Given the description of an element on the screen output the (x, y) to click on. 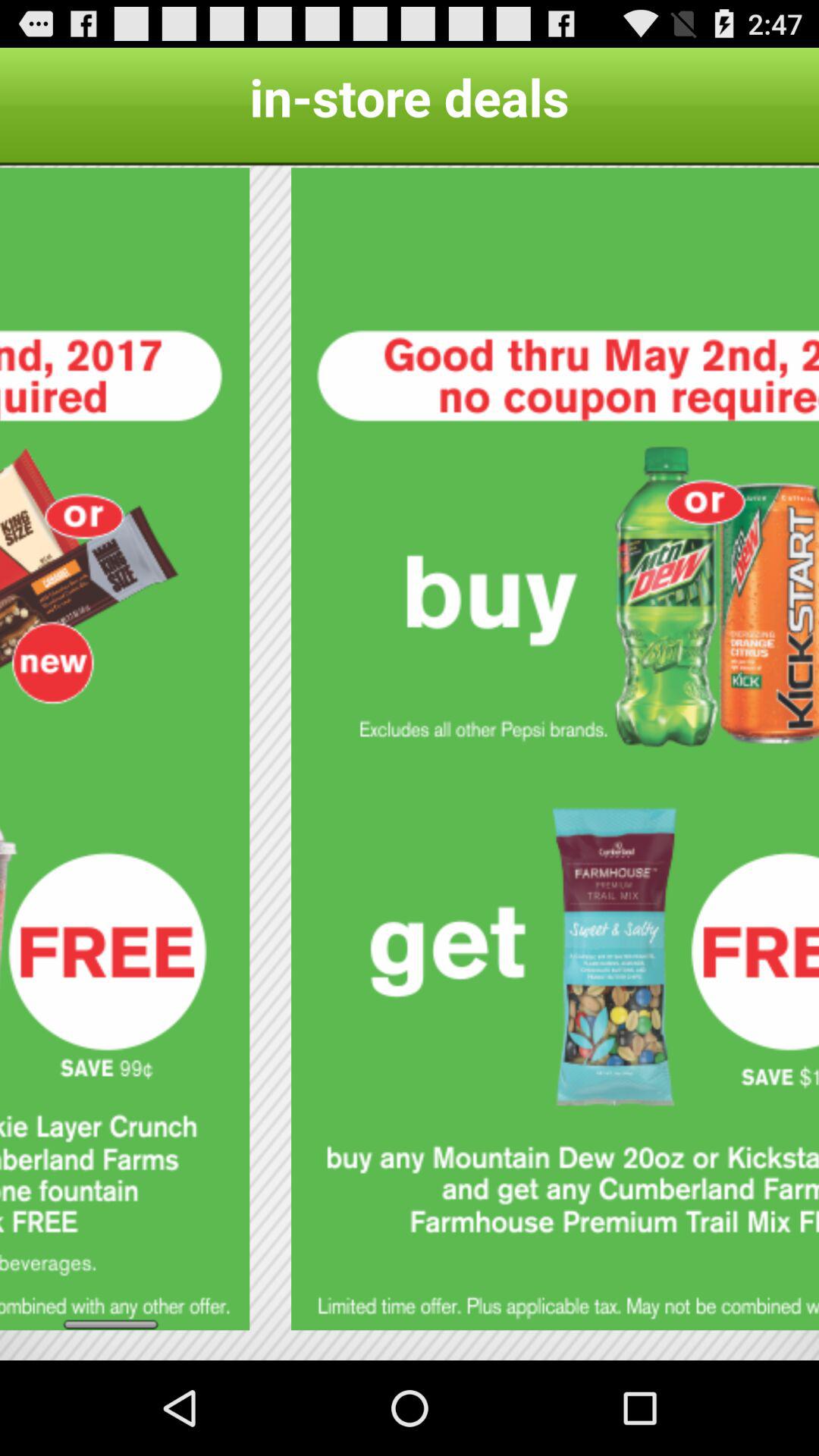
select icon on the right (555, 748)
